Given the description of an element on the screen output the (x, y) to click on. 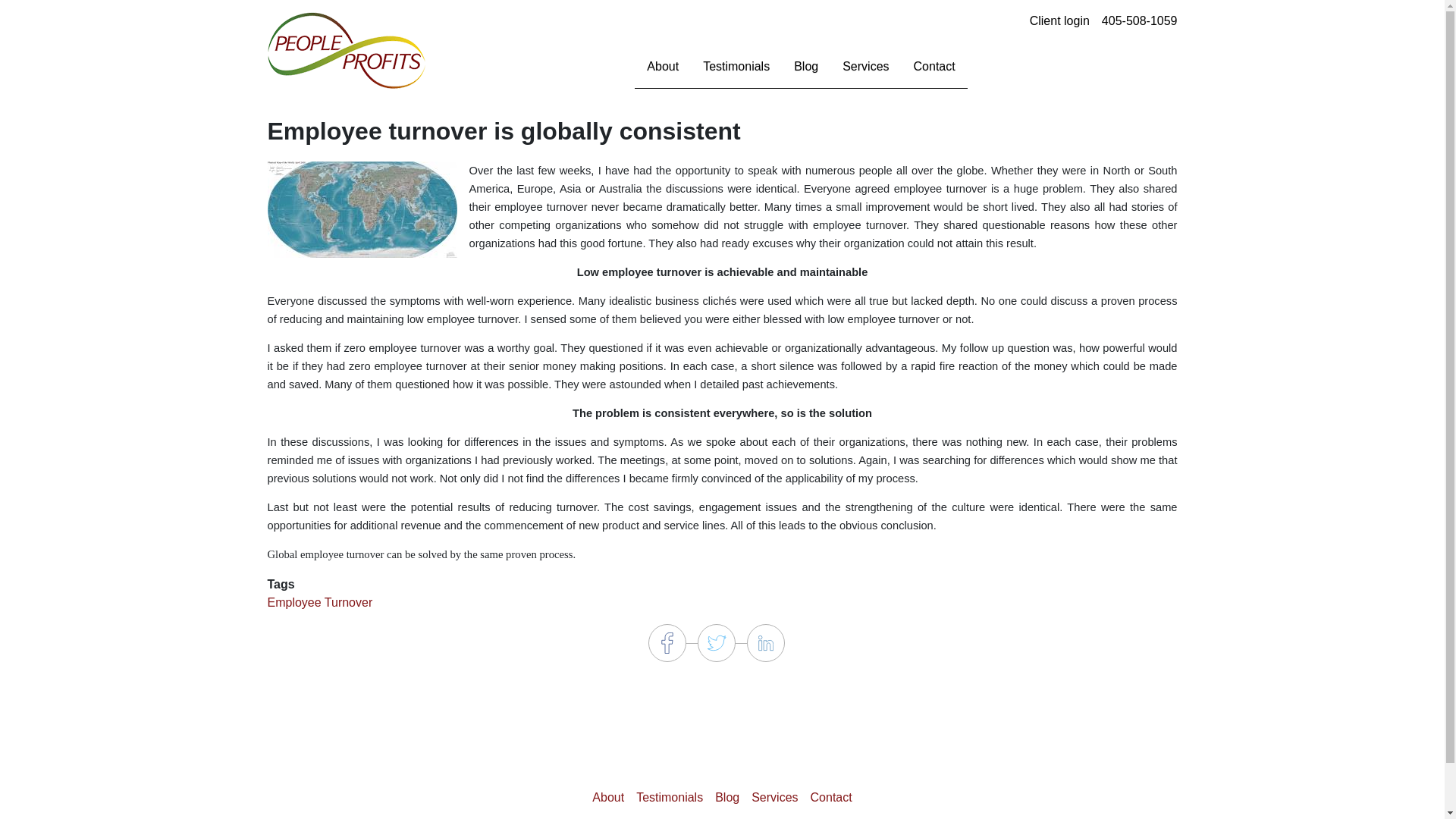
Client login (1059, 20)
Services (774, 797)
Services (865, 66)
Blog (805, 66)
405-508-1059 (1139, 20)
About (662, 66)
About (608, 797)
Employee Turnover (319, 602)
Testimonials (669, 797)
Employee turnover is globally consistent (361, 208)
Blog (726, 797)
Testimonials (735, 66)
Contact (934, 66)
Contact (830, 797)
